Given the description of an element on the screen output the (x, y) to click on. 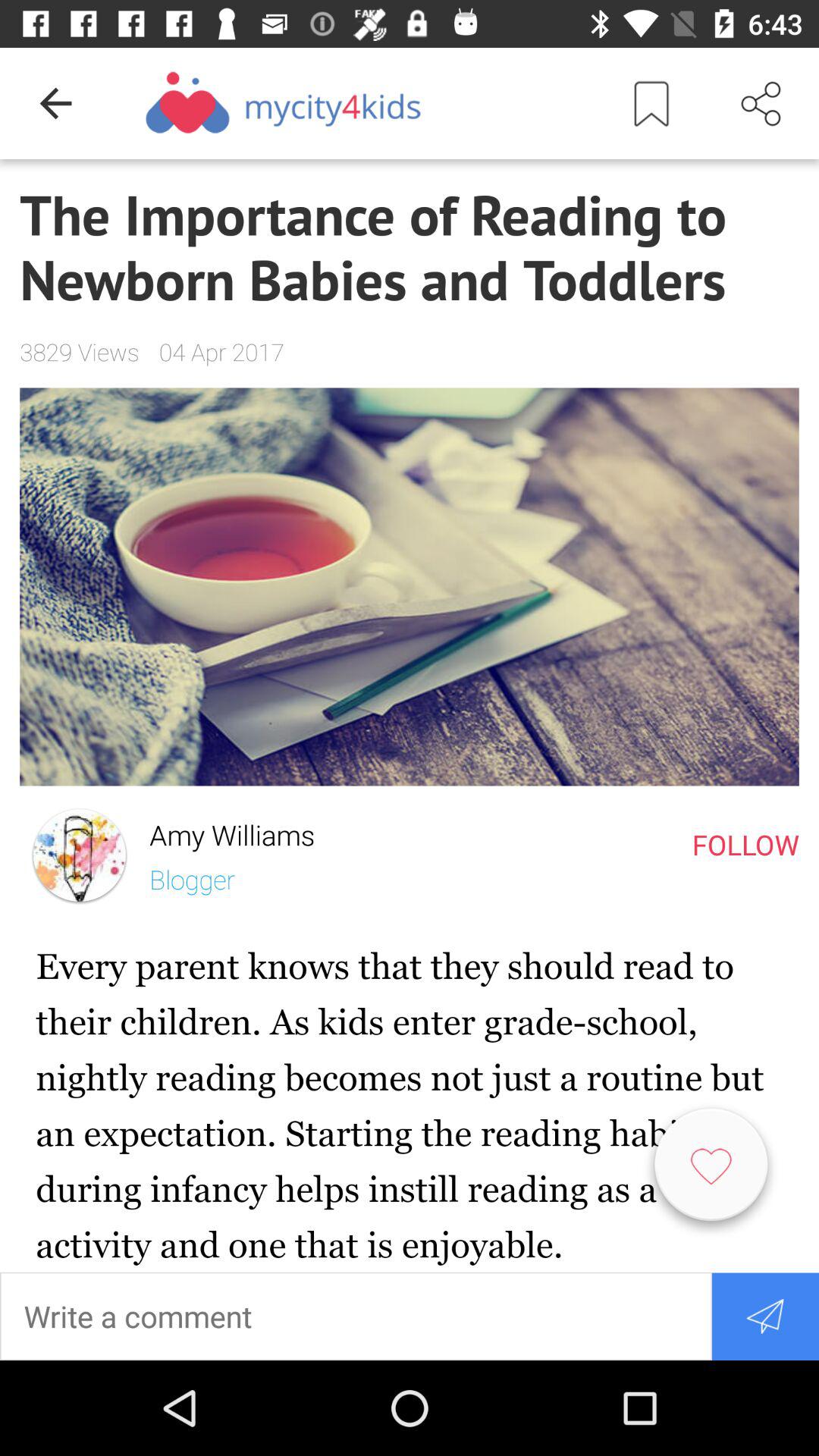
enter comment (356, 1316)
